Given the description of an element on the screen output the (x, y) to click on. 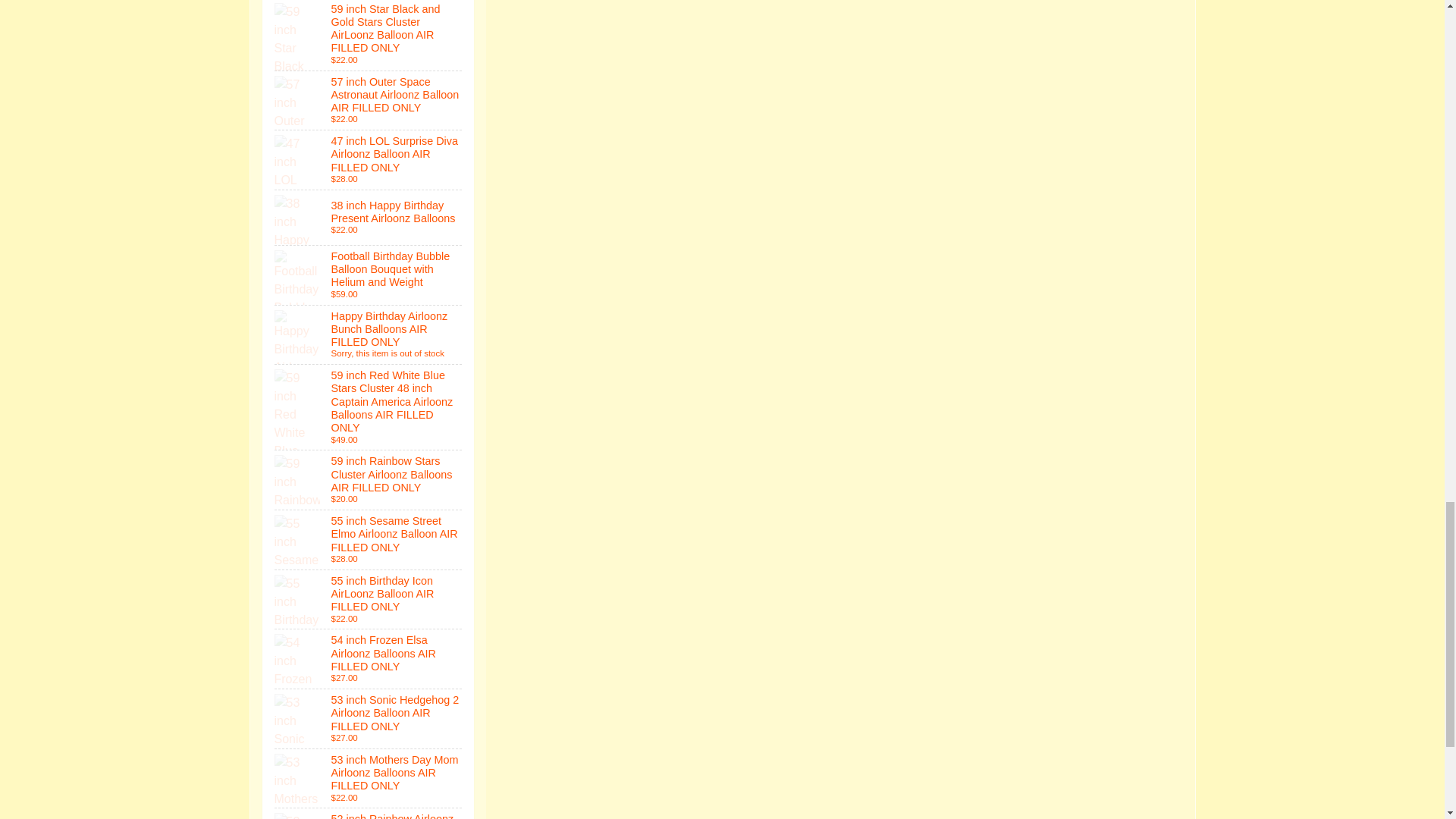
47 inch LOL Surprise Diva Airloonz Balloon AIR FILLED ONLY (369, 159)
55 inch Sesame Street Elmo Airloonz Balloon AIR FILLED ONLY (369, 539)
54 inch Frozen Elsa Airloonz Balloons AIR FILLED ONLY (369, 658)
53 inch Mothers Day Mom Airloonz Balloons AIR FILLED ONLY (369, 778)
38 inch Happy Birthday Present Airloonz Balloons (369, 217)
53 inch Sonic Hedgehog 2 Airloonz Balloon AIR FILLED ONLY (369, 718)
55 inch Birthday Icon AirLoonz Balloon AIR FILLED ONLY (369, 599)
Happy Birthday Airloonz Bunch Balloons AIR FILLED ONLY (369, 334)
